Given the description of an element on the screen output the (x, y) to click on. 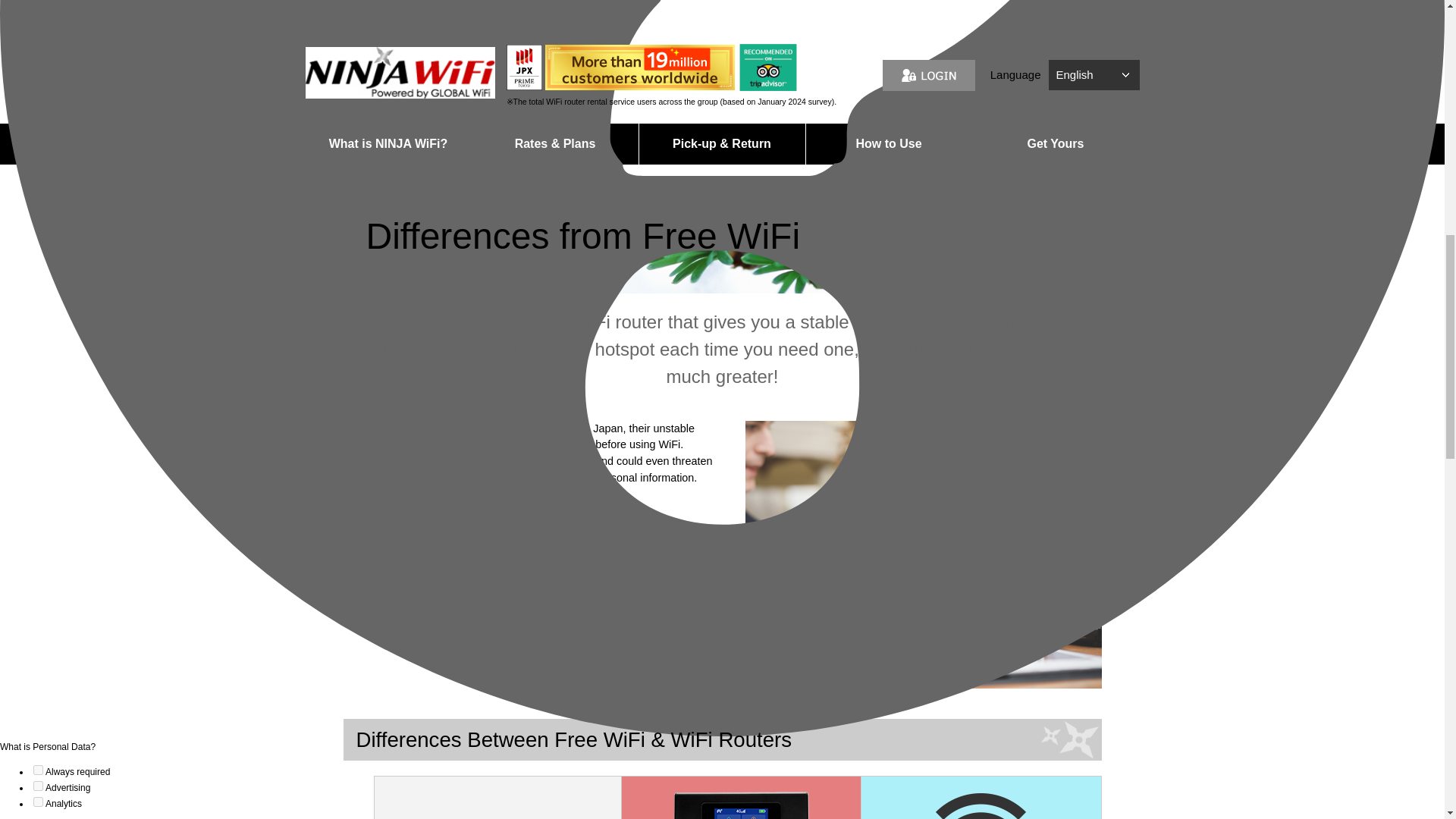
What is NINJA WiFi? (387, 143)
Get Yours (1055, 143)
How to Use (888, 143)
WiFi (722, 184)
